Given the description of an element on the screen output the (x, y) to click on. 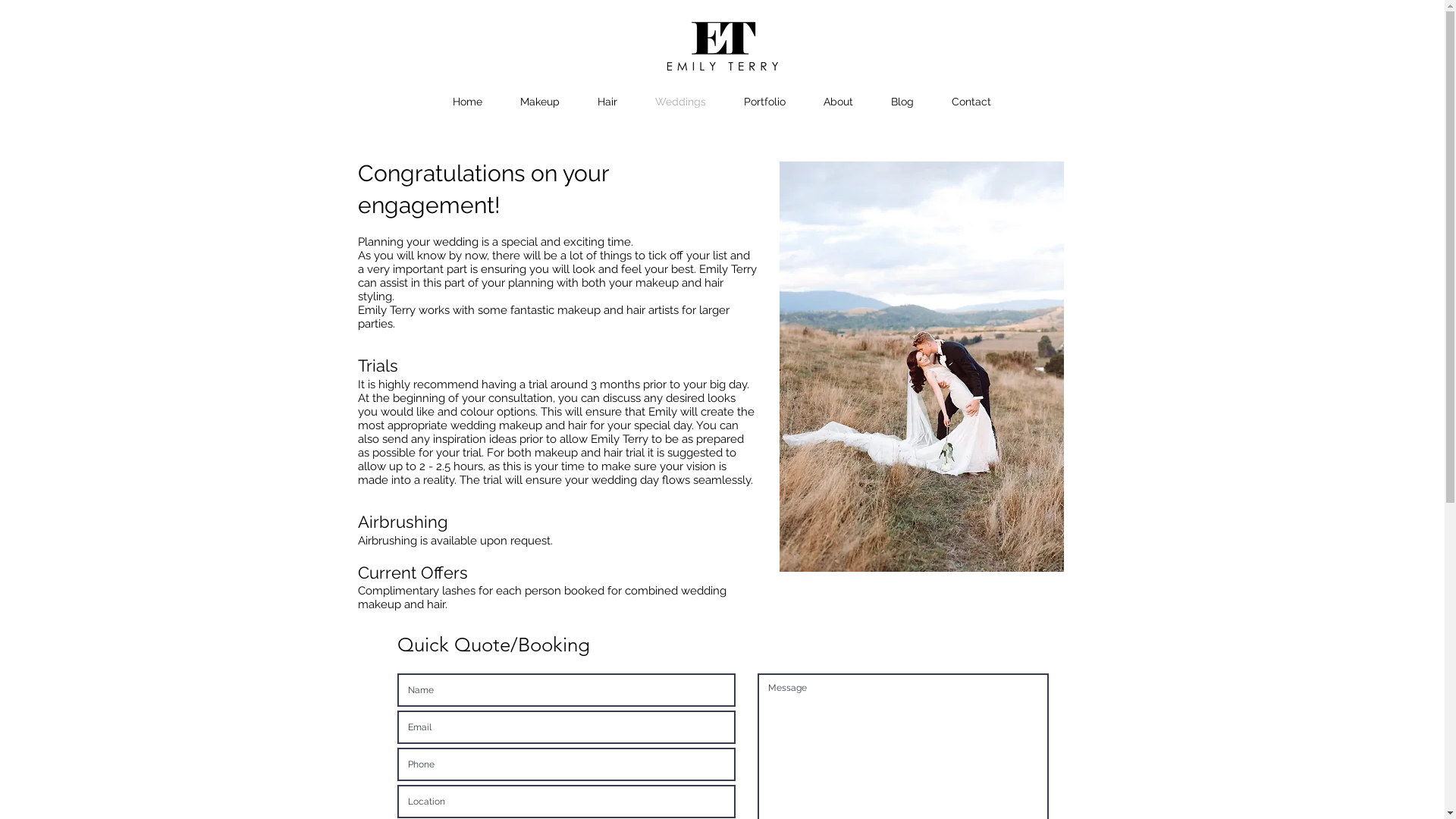
Hair Element type: text (607, 101)
Home Element type: text (467, 101)
Weddings Element type: text (680, 101)
Makeup Element type: text (539, 101)
Blog Element type: text (902, 101)
About Element type: text (838, 101)
Contact Element type: text (971, 101)
